Given the description of an element on the screen output the (x, y) to click on. 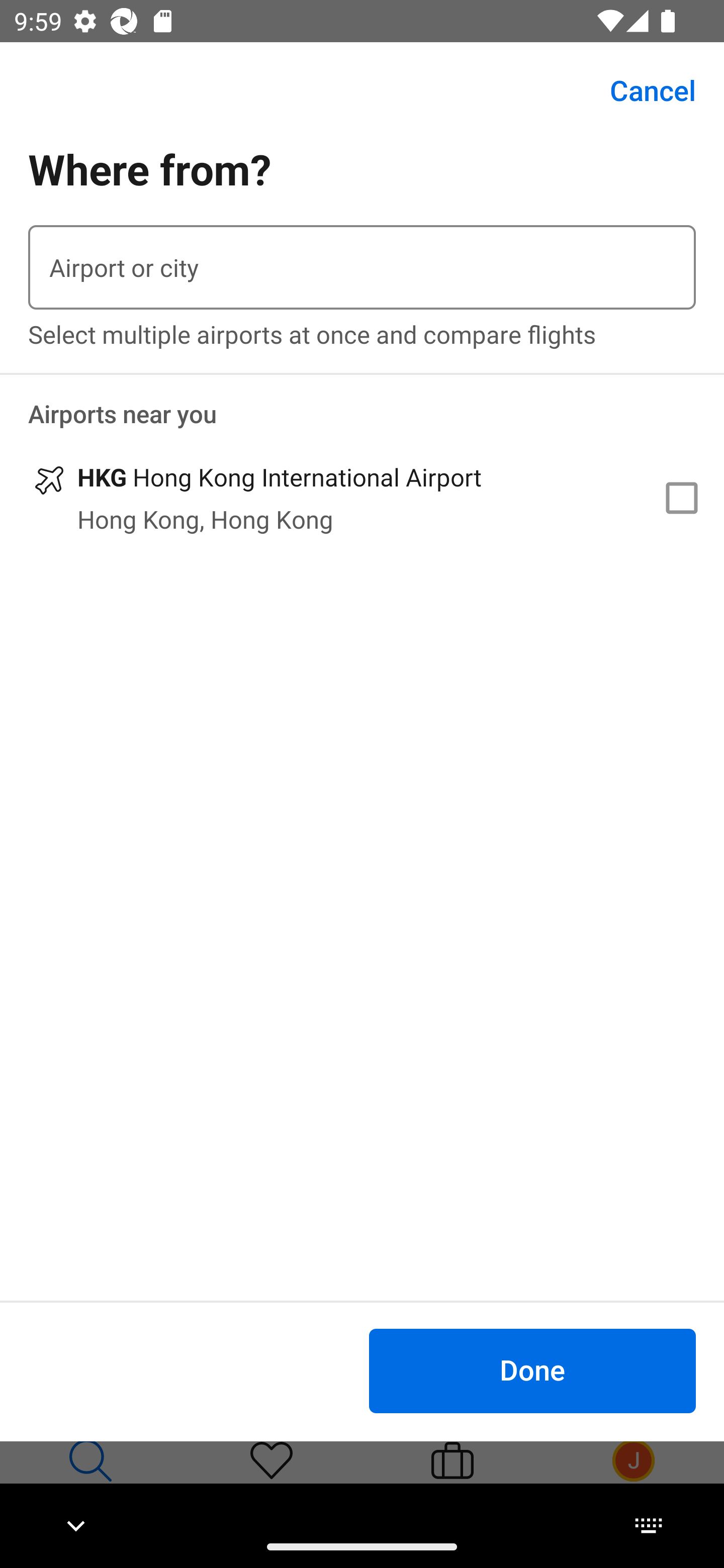
Cancel (641, 90)
Airport or city (361, 266)
Done (532, 1370)
